Given the description of an element on the screen output the (x, y) to click on. 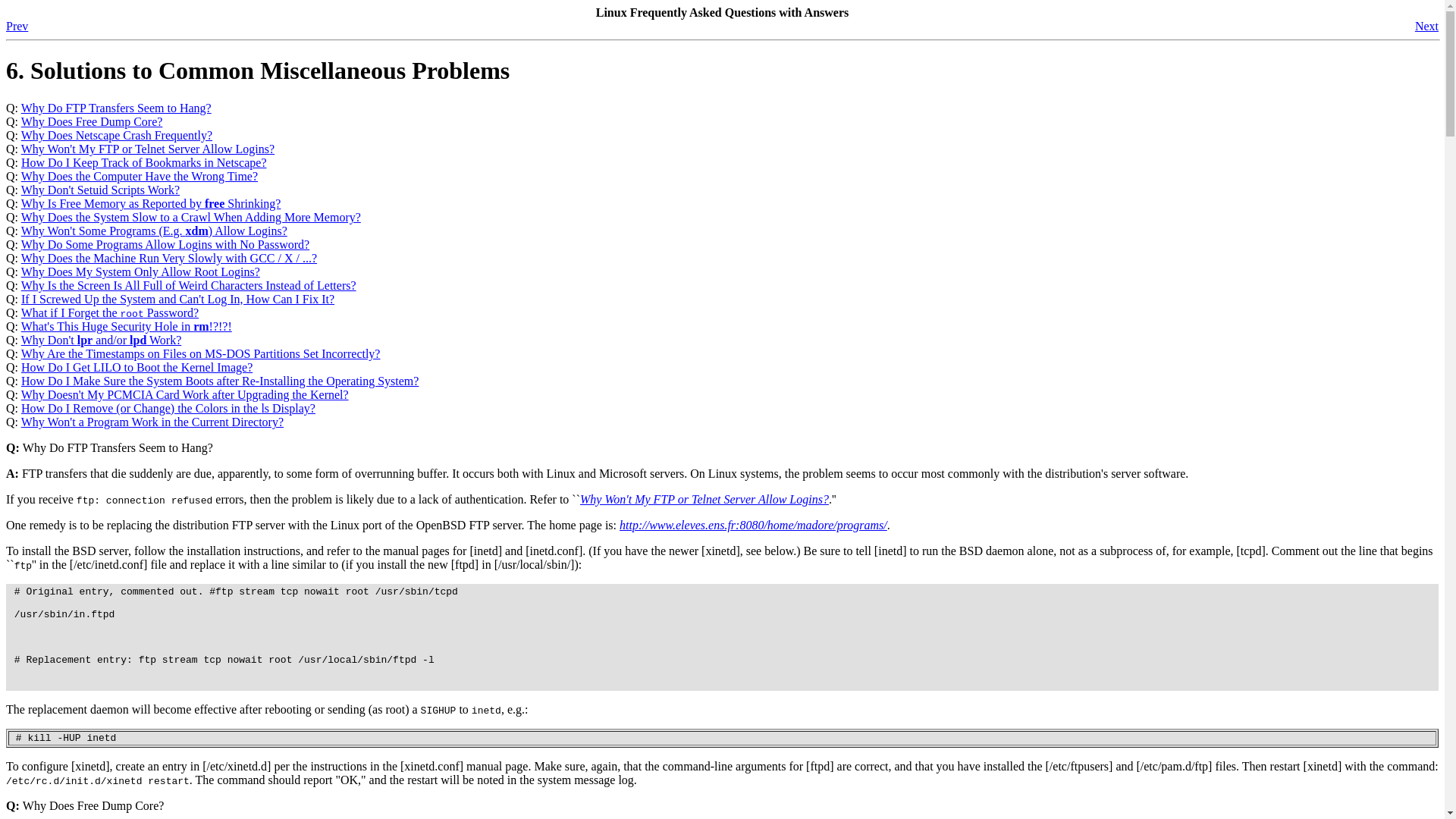
Why Is Free Memory as Reported by free Shrinking? (151, 203)
What's This Huge Security Hole in rm!?!?! (126, 326)
Q: Why Do FTP Transfers Seem to Hang? (108, 447)
Q: (13, 107)
Why Won't a Program Work in the Current Directory? (152, 421)
Why Do FTP Transfers Seem to Hang? (116, 107)
What if I Forget the root Password? (109, 312)
Why Do Some Programs Allow Logins with No Password? (164, 244)
Prev (16, 25)
Why Does the System Slow to a Crawl When Adding More Memory? (191, 216)
Why Doesn't My PCMCIA Card Work after Upgrading the Kernel? (185, 394)
Why Won't My FTP or Telnet Server Allow Logins? (148, 148)
Q: Why Does Free Dump Core? (84, 805)
